Given the description of an element on the screen output the (x, y) to click on. 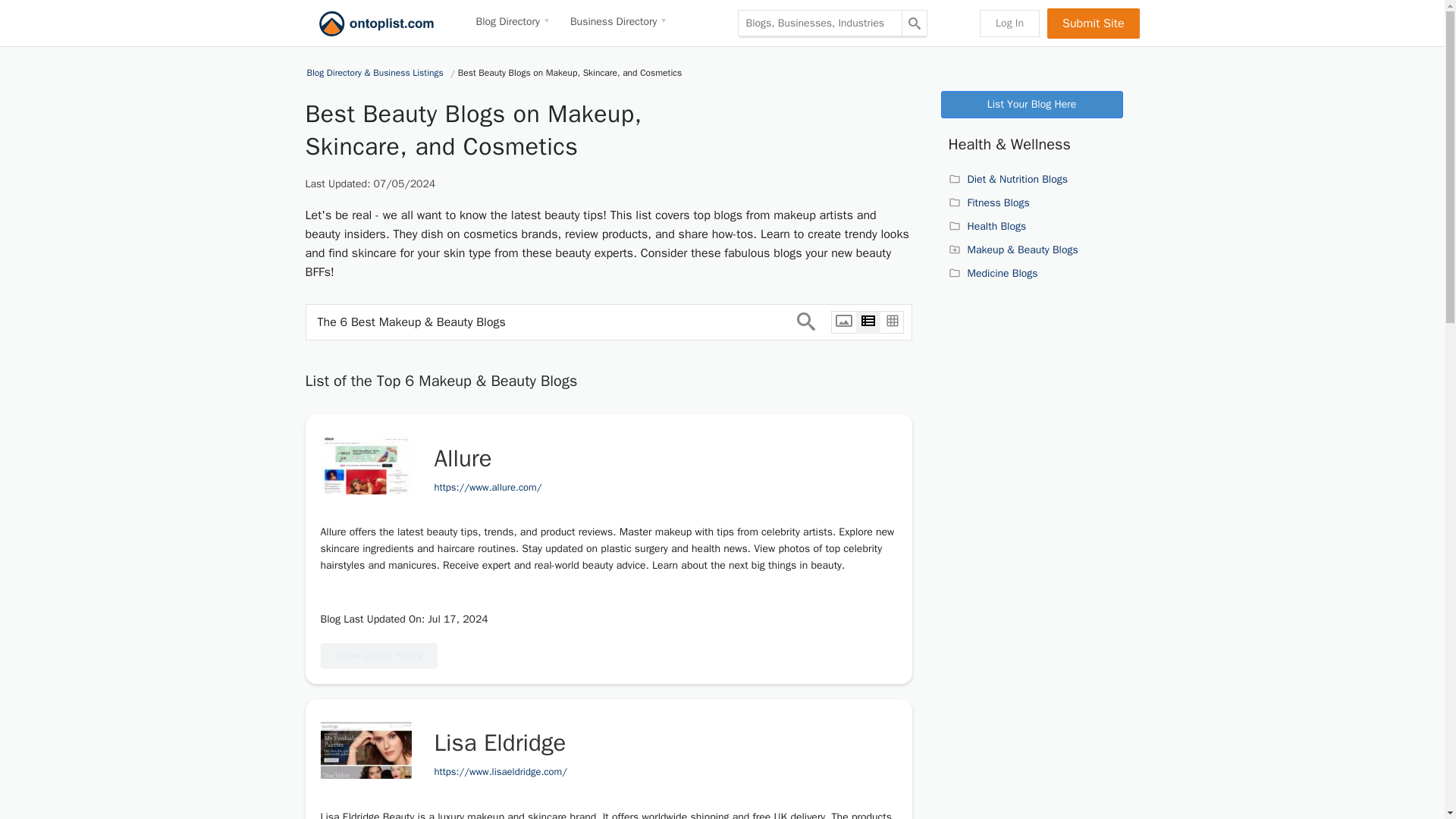
Health Blogs (986, 226)
Show Latest Posts (378, 655)
Submit Site (1092, 22)
Medicine Blogs (991, 273)
Grid View (891, 322)
Log In (1009, 22)
Large Image View (843, 322)
List View (867, 322)
Fitness Blogs (988, 202)
